Given the description of an element on the screen output the (x, y) to click on. 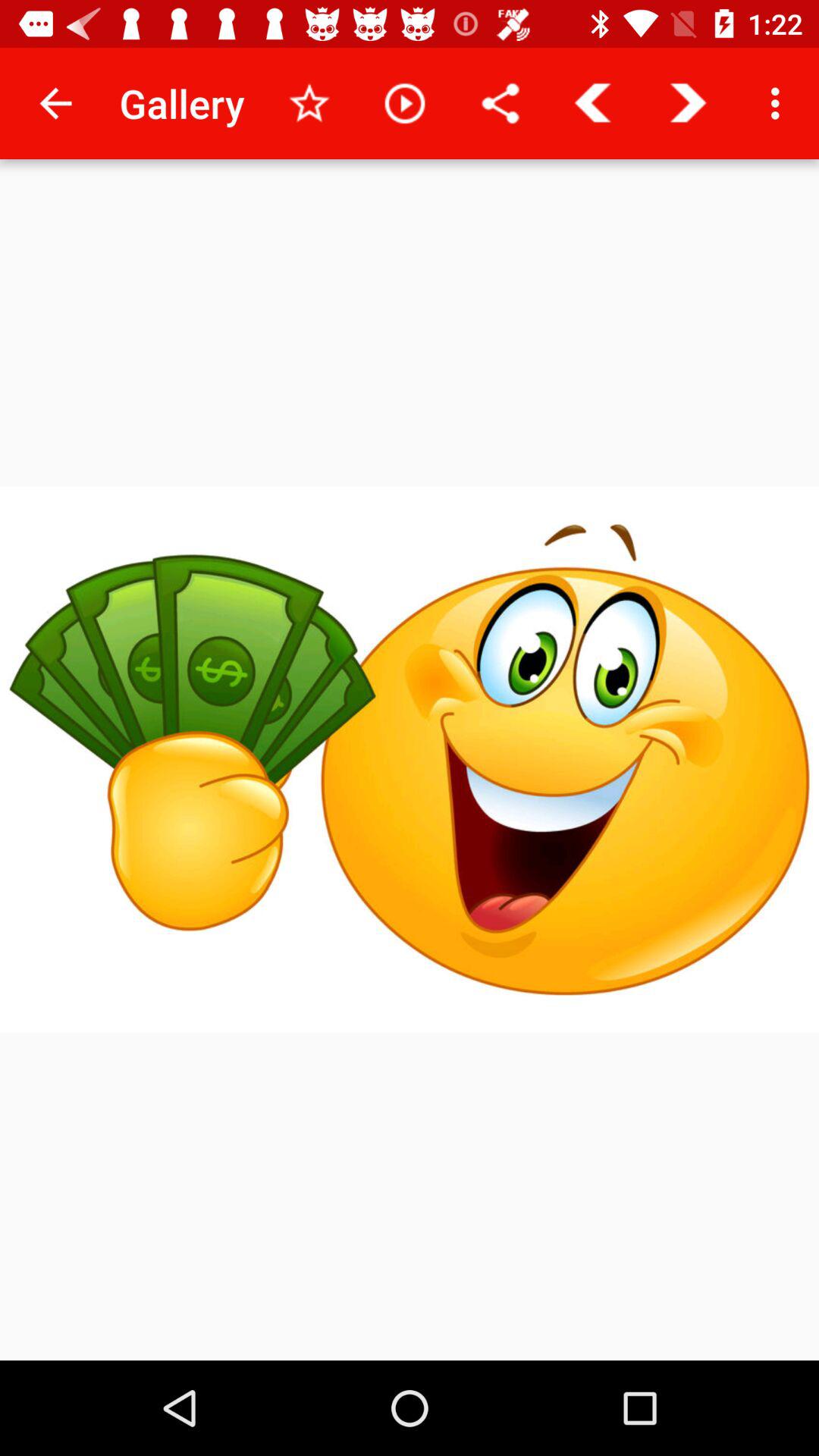
turn off item to the right of the gallery (309, 103)
